Given the description of an element on the screen output the (x, y) to click on. 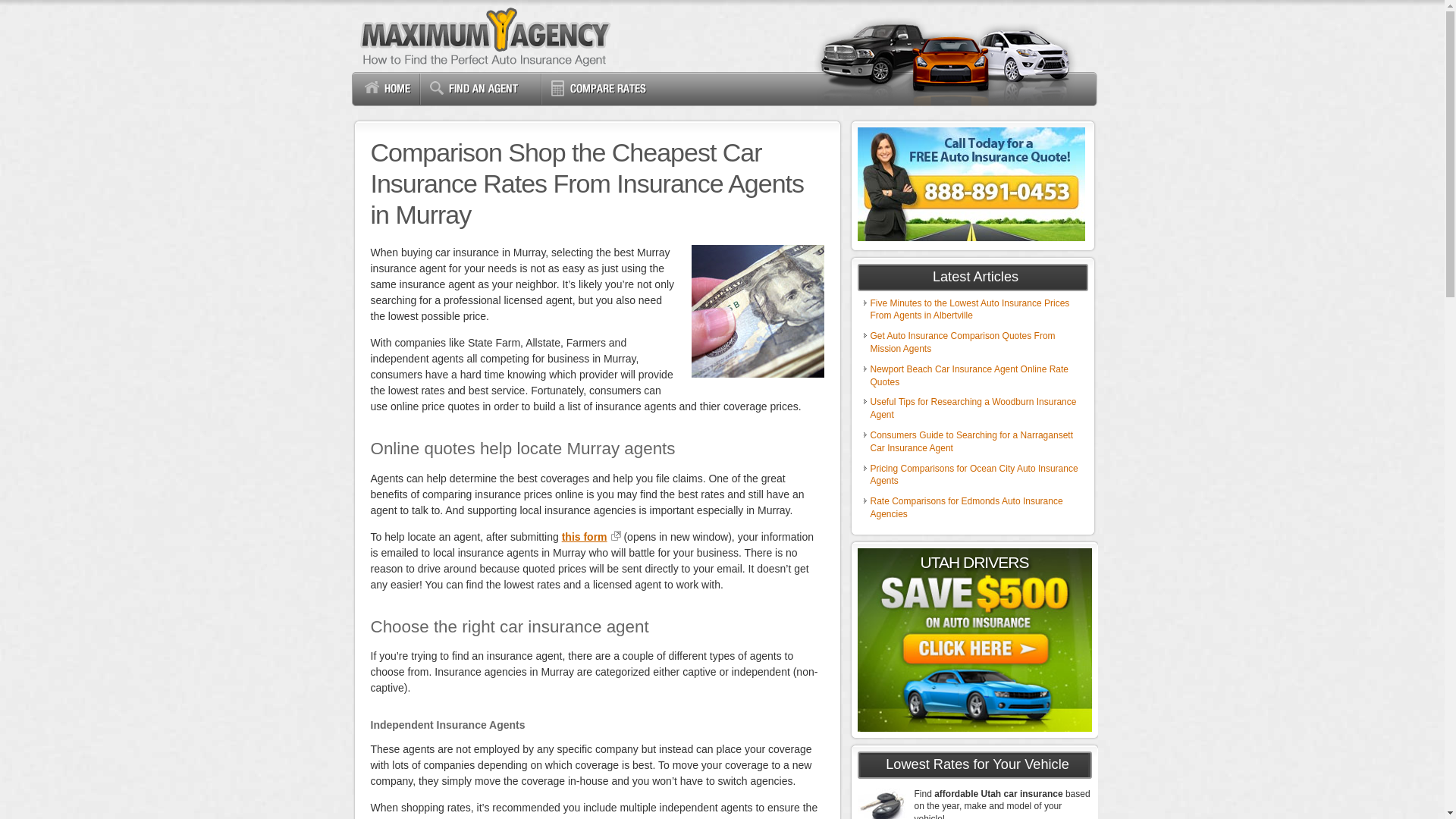
Newport Beach Car Insurance Agent Online Rate Quotes (969, 375)
Get Auto Insurance Comparison Quotes From Mission Agents (962, 341)
Rate Comparisons for Edmonds Auto Insurance Agencies (966, 507)
Useful Tips for Researching a Woodburn Insurance Agent (973, 408)
Pricing Comparisons for Ocean City Auto Insurance Agents (974, 474)
this form (591, 536)
